Given the description of an element on the screen output the (x, y) to click on. 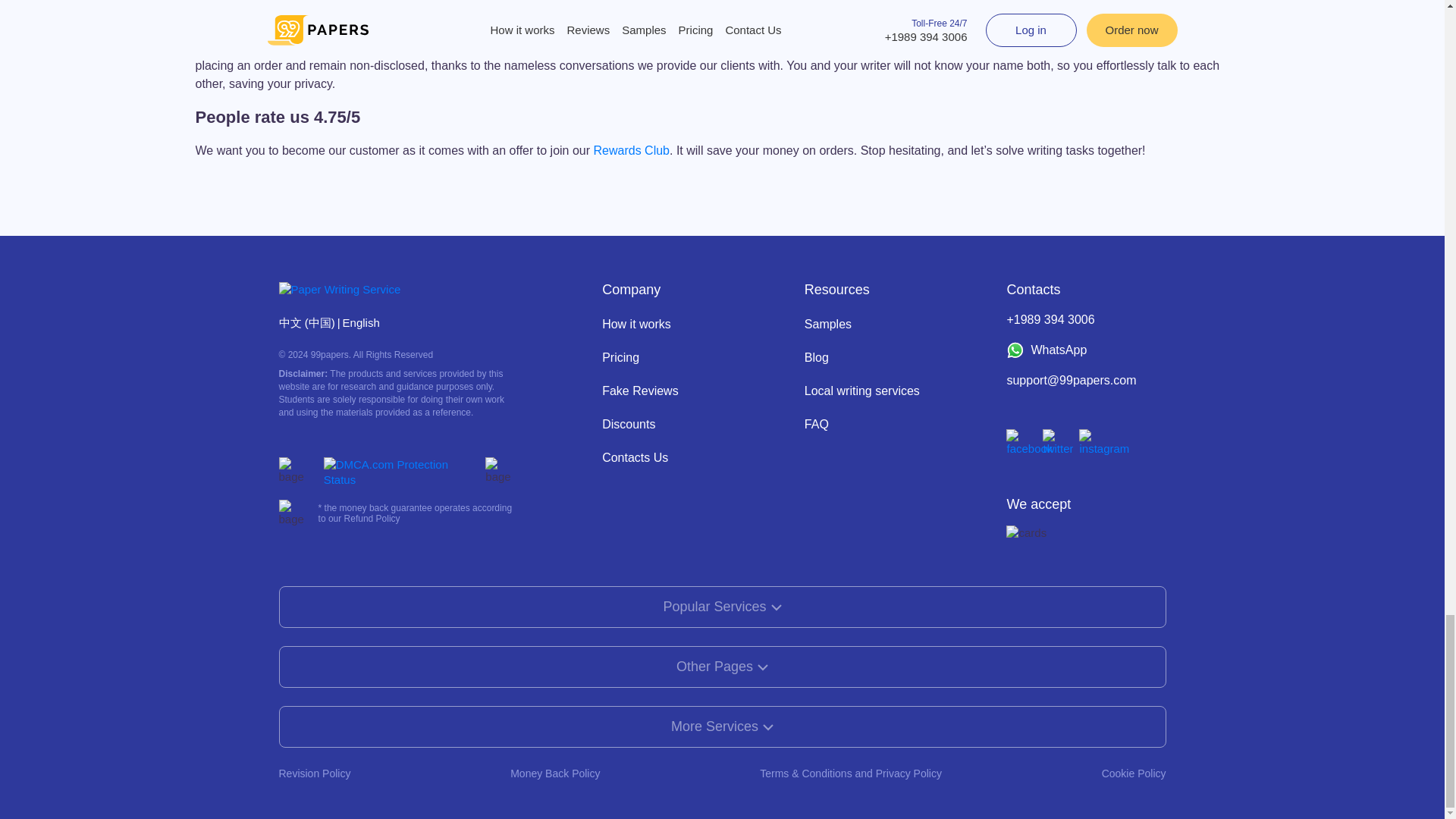
How it works (636, 323)
WhatsApp (1086, 350)
Blog (816, 357)
DMCA.com Protection Status (400, 472)
Pricing (620, 357)
Samples (828, 323)
Local writing services (862, 390)
Contacts Us (635, 457)
Discounts (628, 423)
FAQ (816, 423)
